Given the description of an element on the screen output the (x, y) to click on. 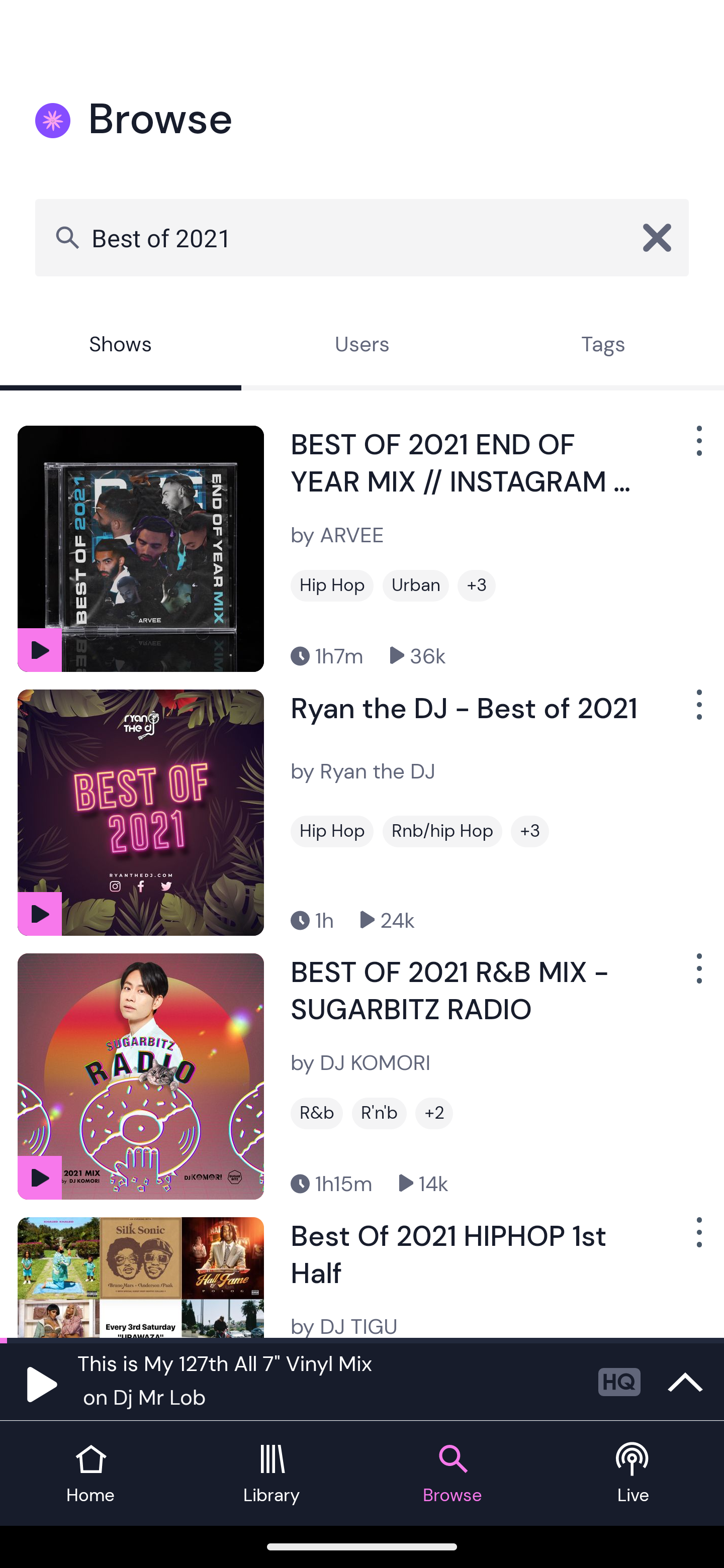
Best of 2021 (361, 237)
Shows (120, 346)
Users (361, 346)
Tags (603, 346)
Show Options Menu Button (697, 447)
Hip Hop (331, 585)
Urban (415, 585)
Show Options Menu Button (697, 712)
Hip Hop (331, 830)
Rnb/hip Hop (442, 830)
Show Options Menu Button (697, 975)
R&b (316, 1112)
R'n'b (378, 1112)
Show Options Menu Button (697, 1239)
Home tab Home (90, 1473)
Library tab Library (271, 1473)
Browse tab Browse (452, 1473)
Live tab Live (633, 1473)
